Given the description of an element on the screen output the (x, y) to click on. 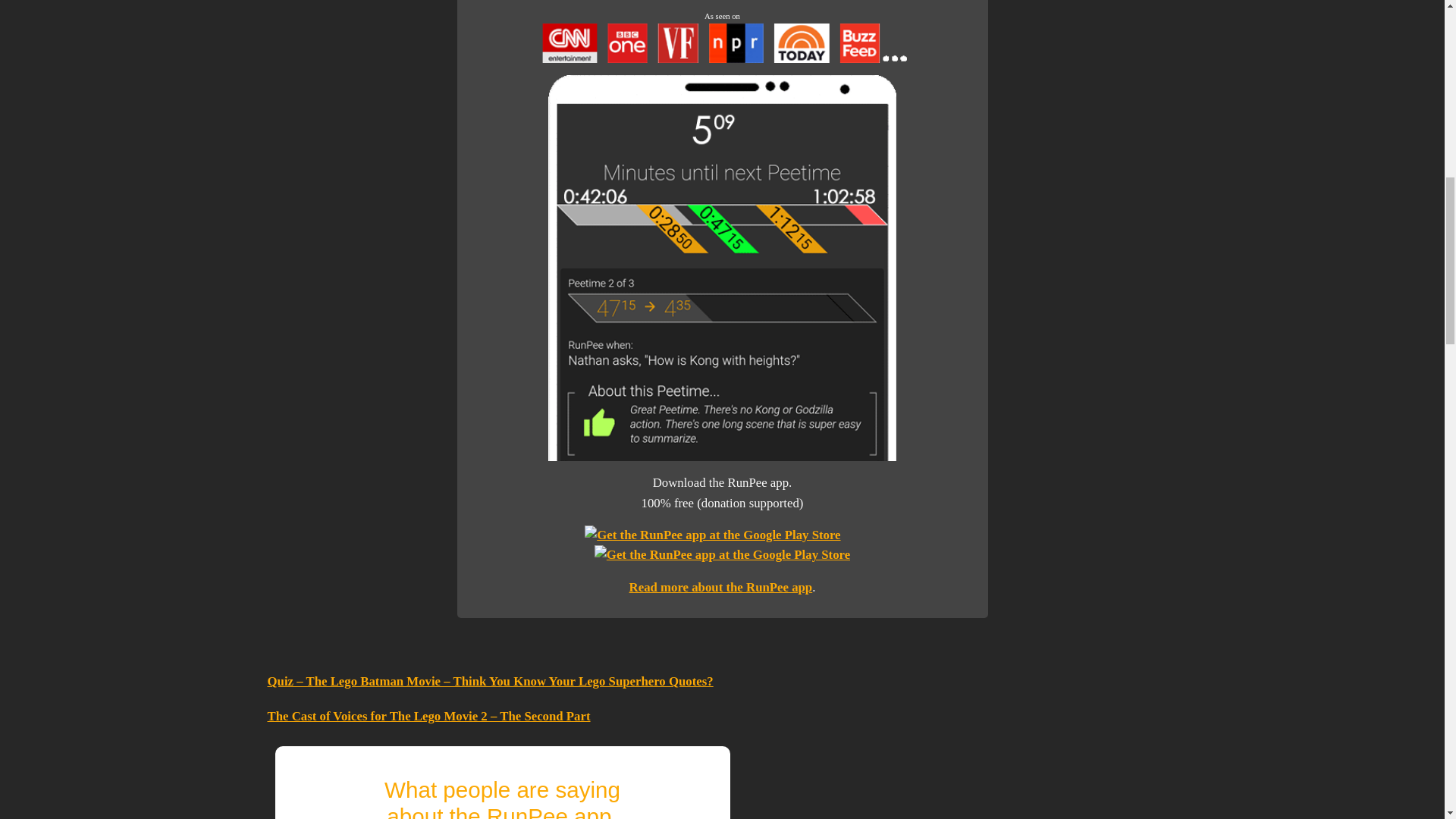
Read more about the RunPee app (720, 586)
